Given the description of an element on the screen output the (x, y) to click on. 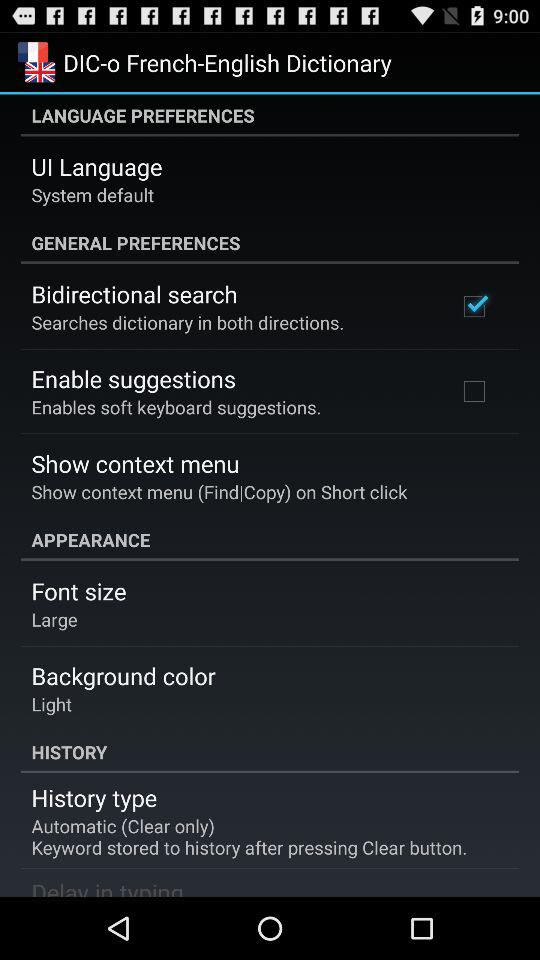
launch the ui language (96, 166)
